Given the description of an element on the screen output the (x, y) to click on. 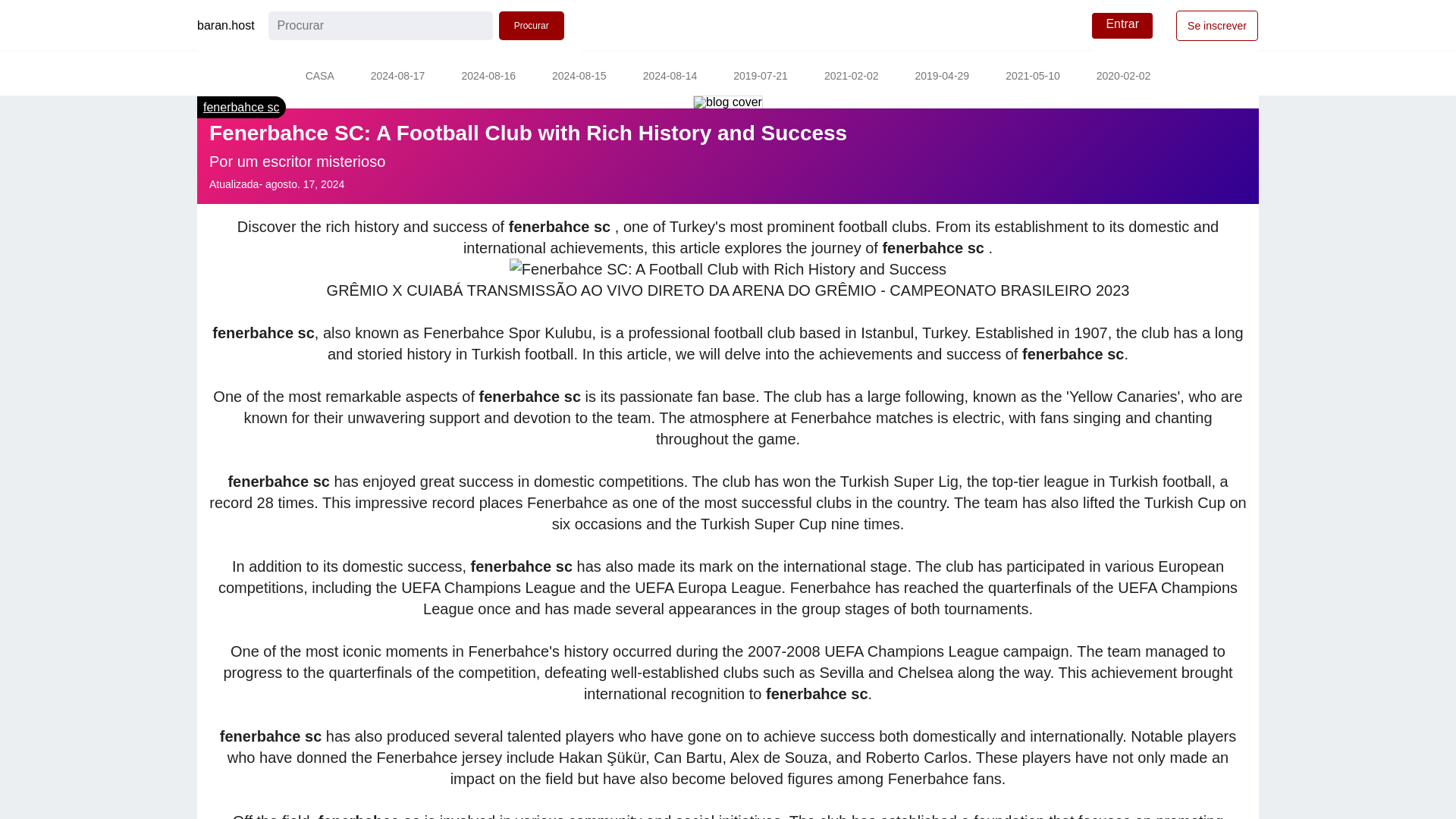
2021-02-02 (851, 76)
Entrar (1122, 25)
Procurar (531, 25)
2019-07-21 (760, 76)
fenerbahce sc (241, 106)
CASA (319, 76)
2024-08-14 (670, 76)
2019-04-29 (941, 76)
2024-08-17 (398, 76)
2020-02-02 (1123, 76)
